Given the description of an element on the screen output the (x, y) to click on. 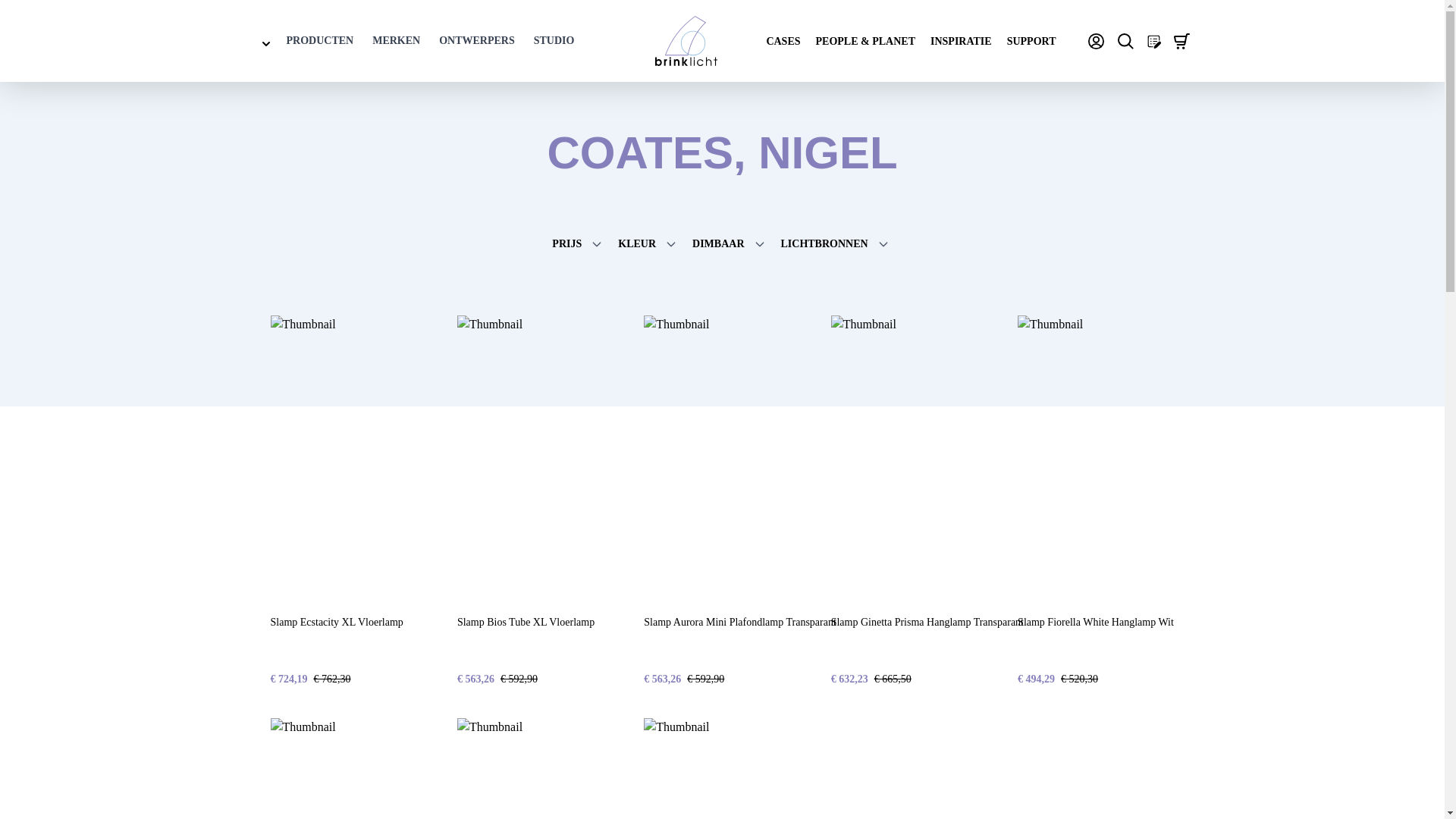
Products (319, 40)
Brands (396, 40)
Studio (554, 40)
Designer (477, 40)
Winkelwagen (1181, 41)
ONTWERPERS (477, 40)
portfolio (865, 41)
support (1032, 41)
PRODUCTEN (319, 40)
Zoeken (1126, 41)
SUPPORT (1032, 41)
MERKEN (396, 40)
Inspiratie (960, 41)
INSPIRATIE (960, 41)
CASES (782, 41)
